Given the description of an element on the screen output the (x, y) to click on. 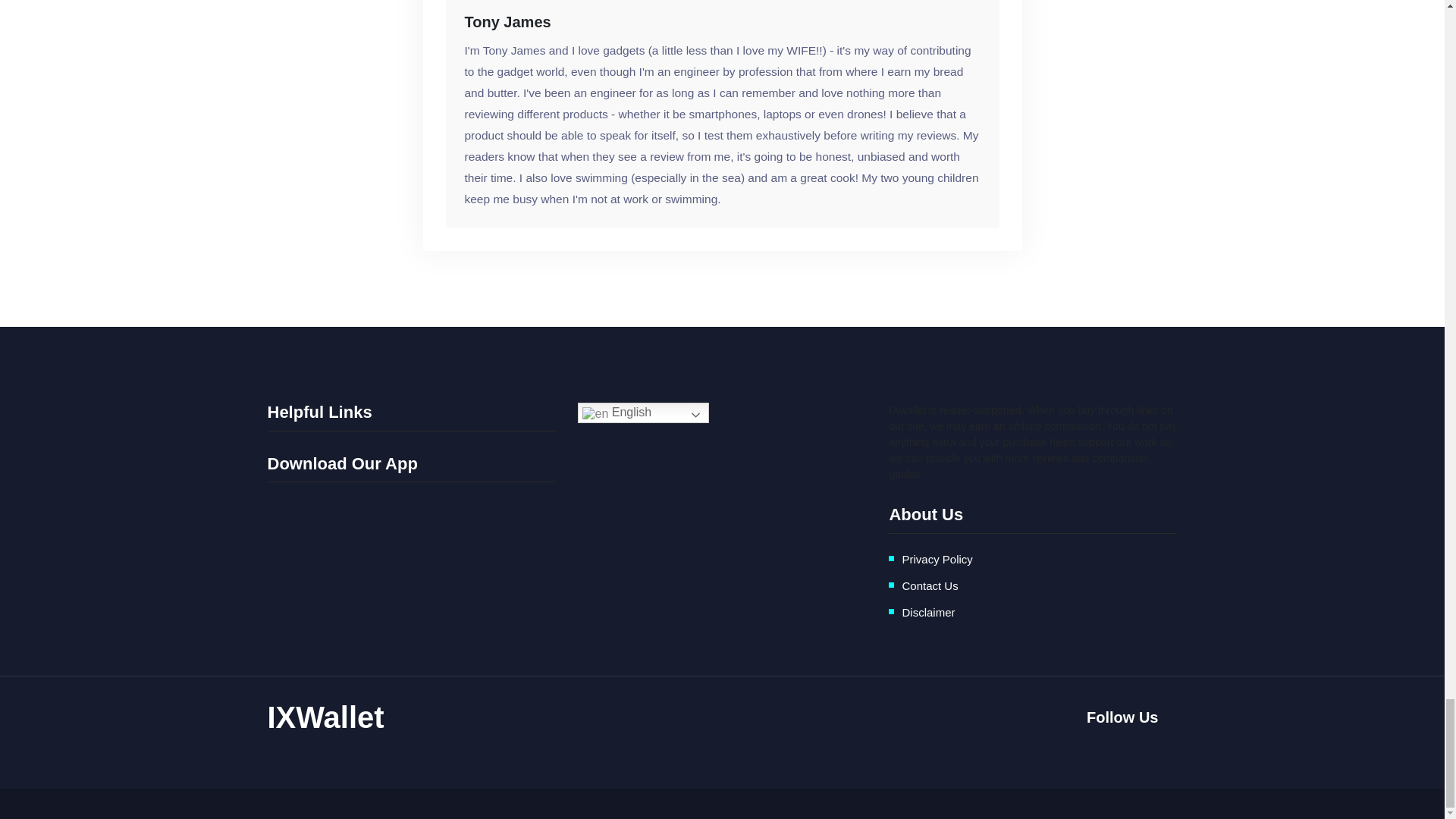
English (643, 412)
